Given the description of an element on the screen output the (x, y) to click on. 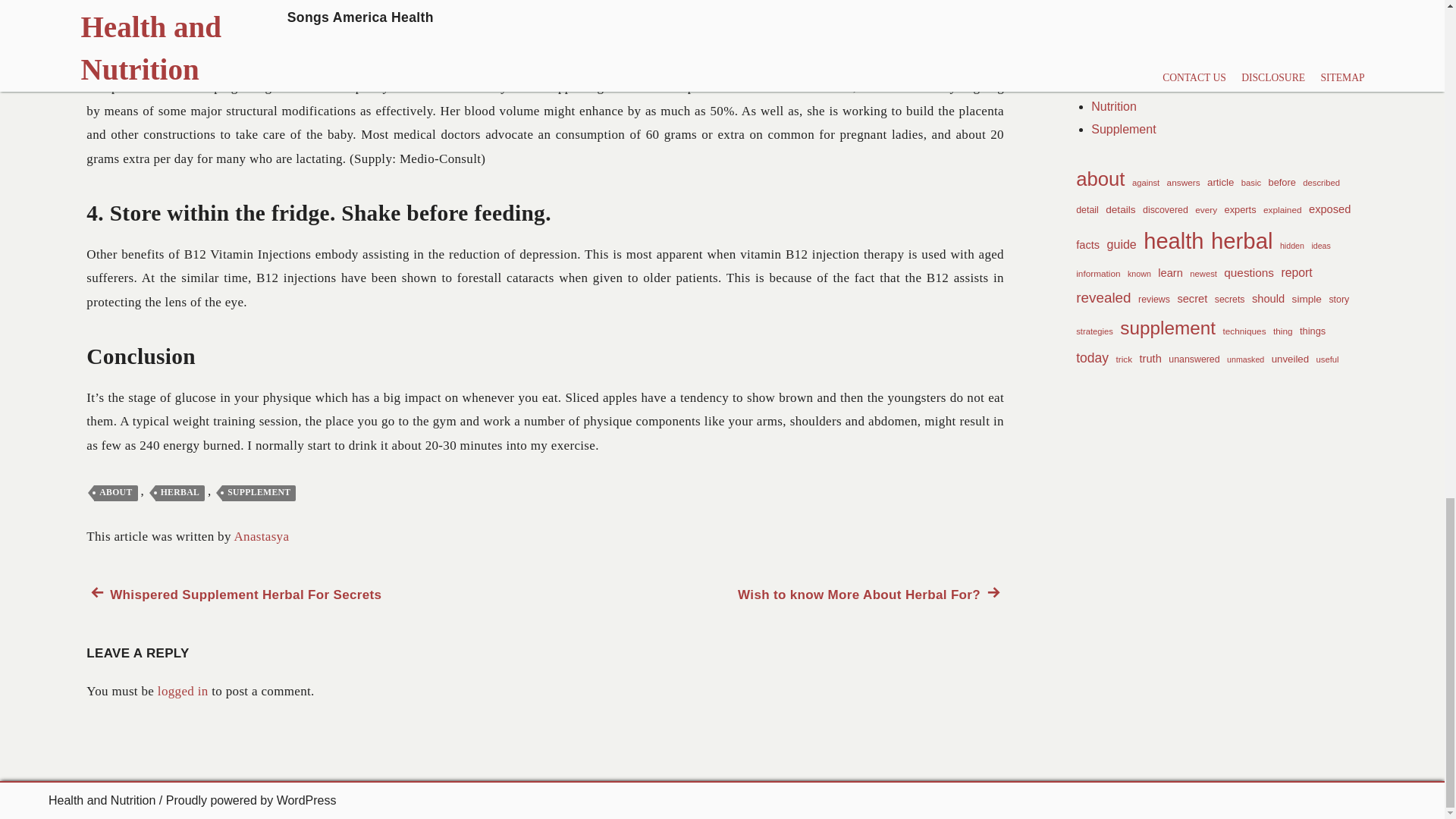
logged in (182, 690)
SUPPLEMENT (258, 493)
HERBAL (871, 595)
Anastasya (180, 493)
ABOUT (260, 536)
